Given the description of an element on the screen output the (x, y) to click on. 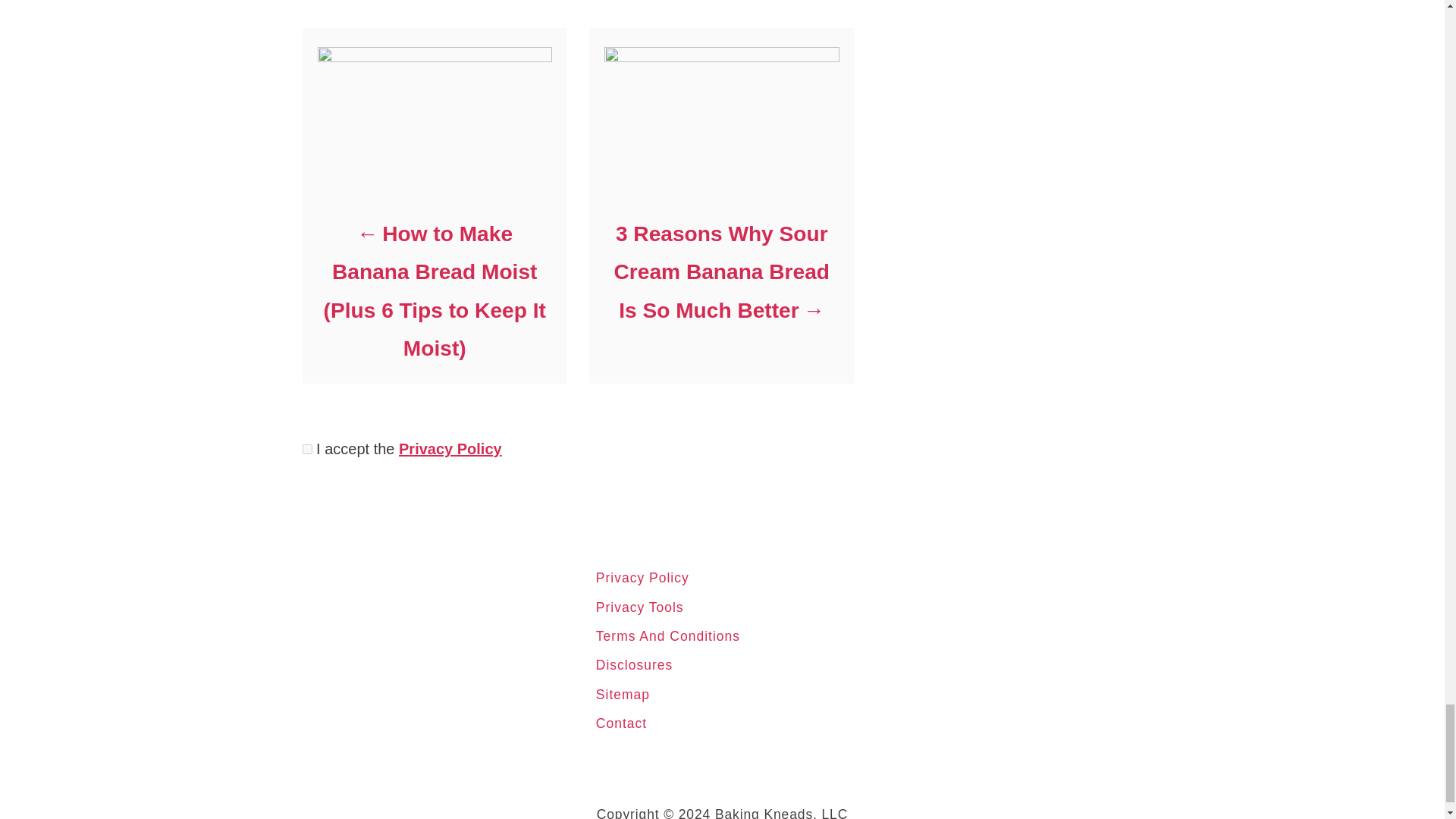
1 (306, 449)
